Given the description of an element on the screen output the (x, y) to click on. 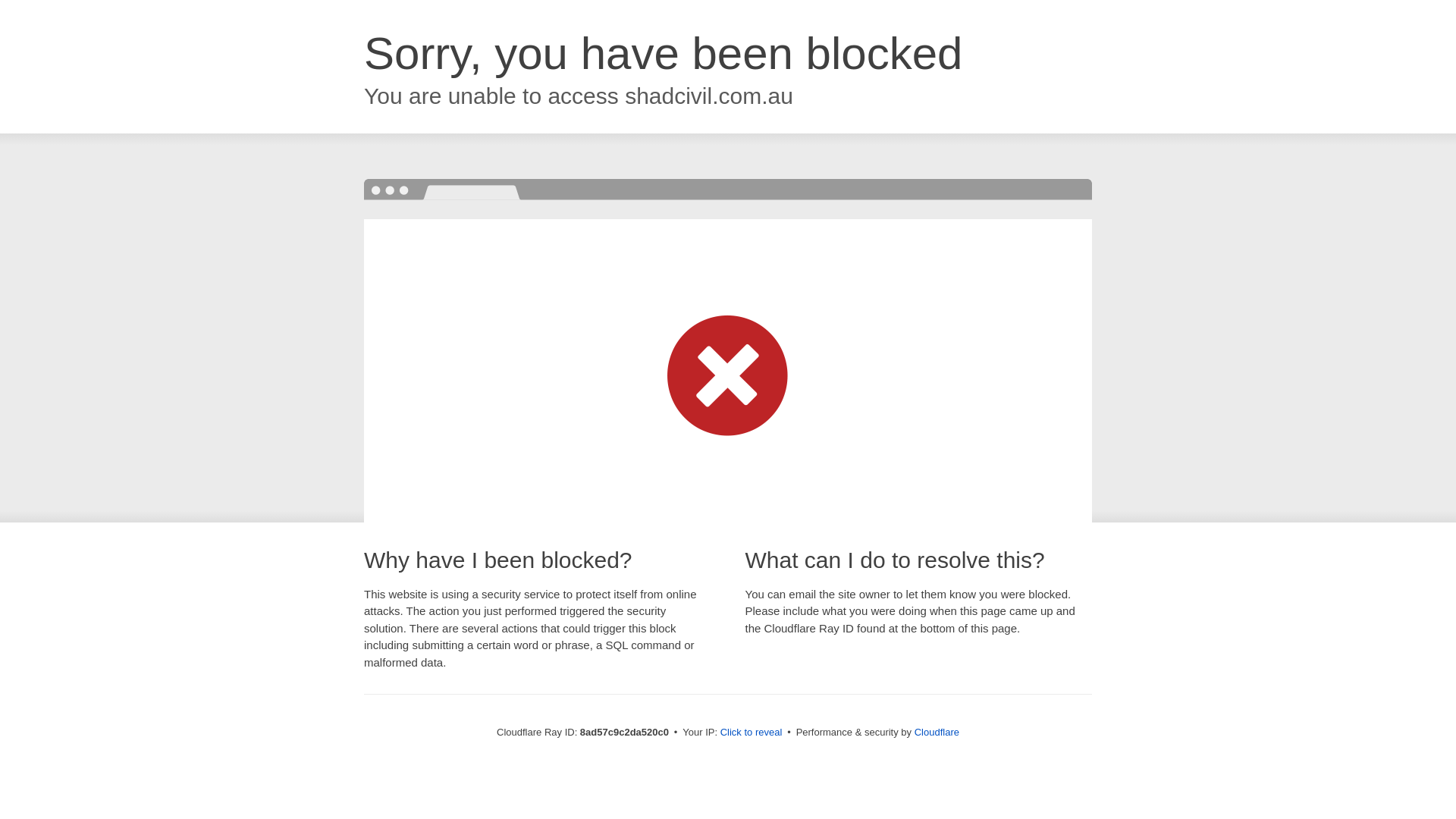
Click to reveal (751, 732)
Cloudflare (936, 731)
